Given the description of an element on the screen output the (x, y) to click on. 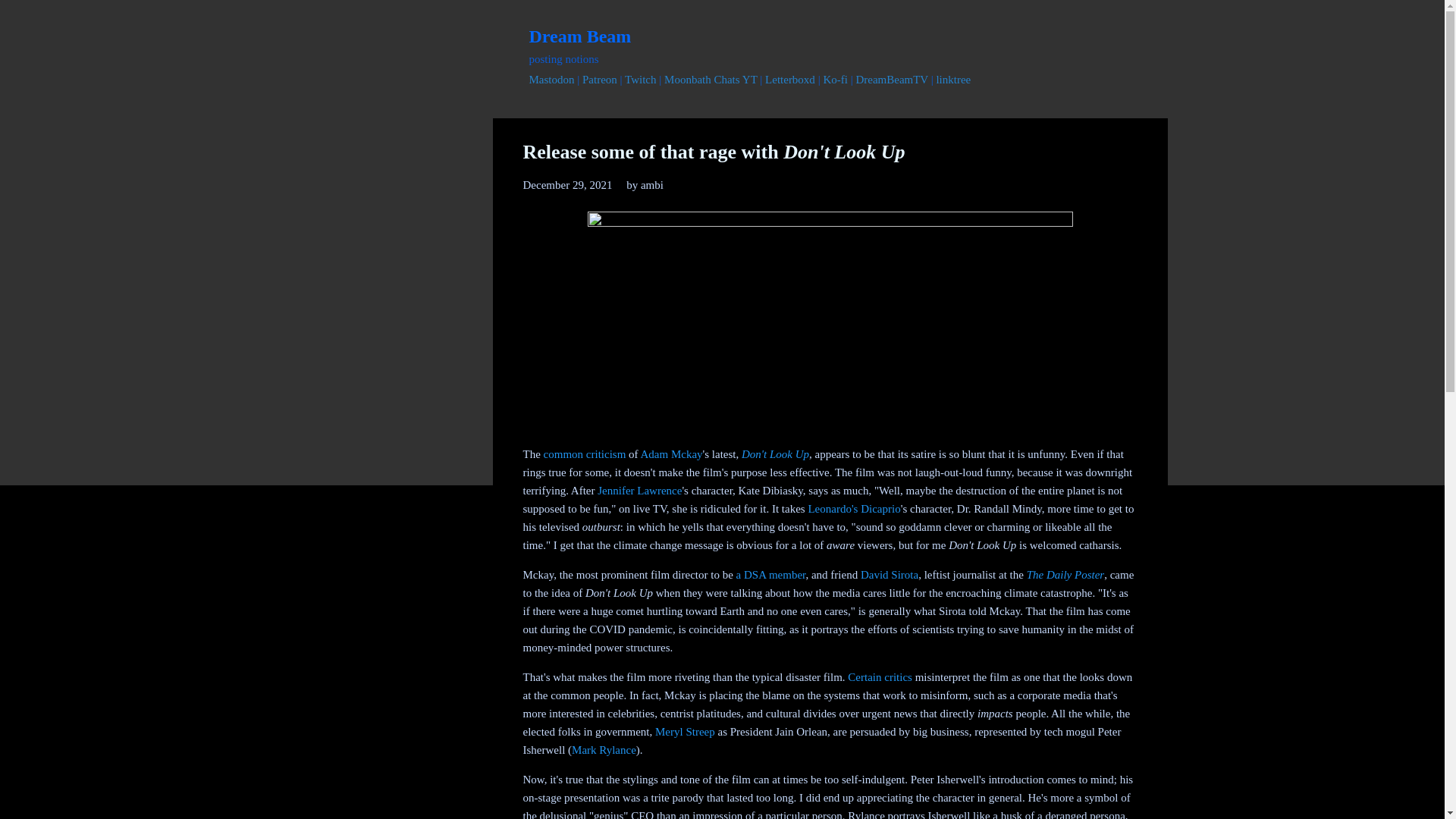
linktree (953, 79)
Certain critics (879, 676)
a DSA member (771, 574)
December 29, 2021 (567, 184)
Moonbath Chats YT (710, 79)
David Sirota (889, 574)
Ko-fi (834, 79)
Jennifer Lawrence (638, 490)
Don't Look Up (775, 453)
Search (29, 18)
